Given the description of an element on the screen output the (x, y) to click on. 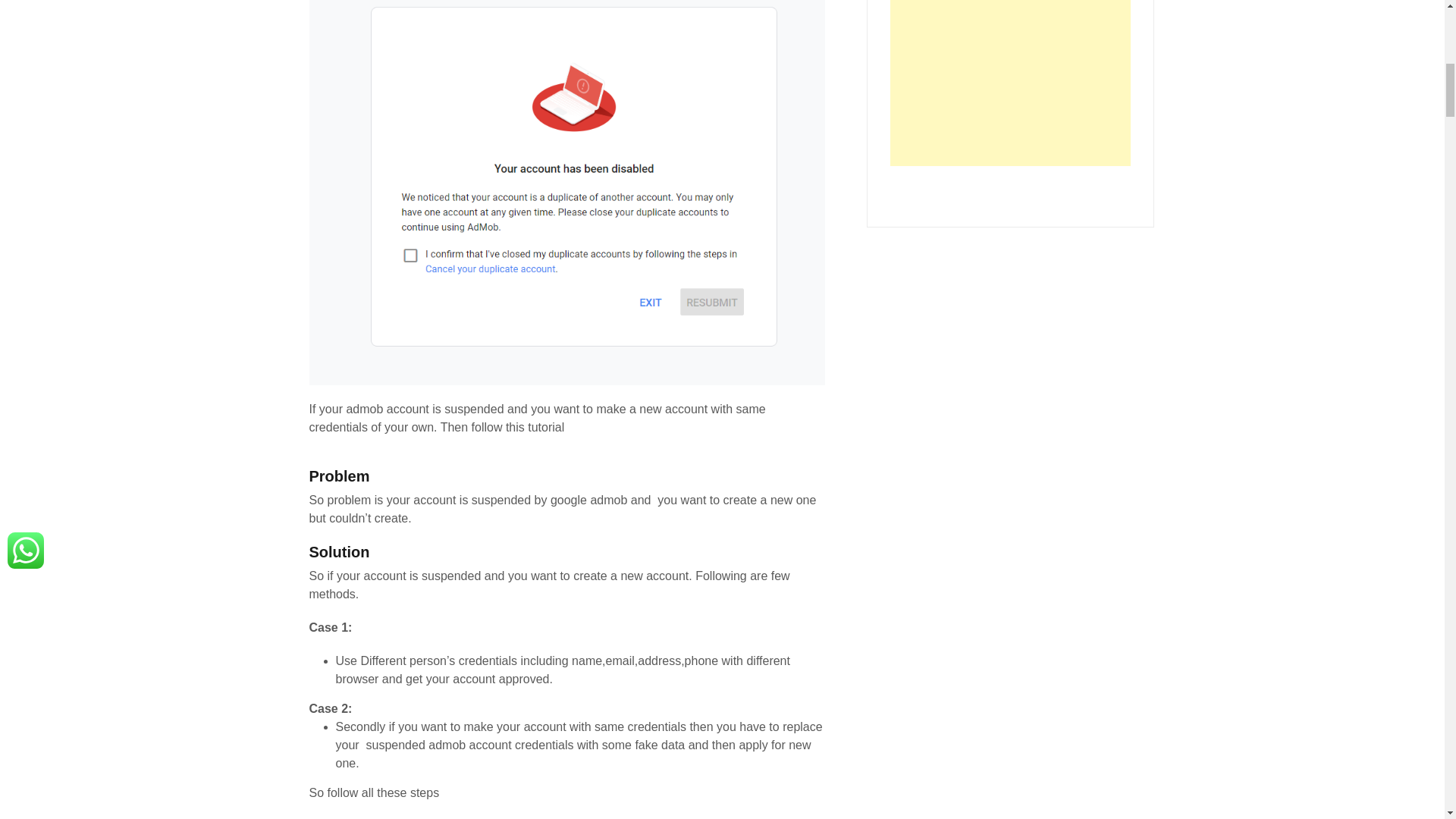
Advertisement (1010, 83)
